Given the description of an element on the screen output the (x, y) to click on. 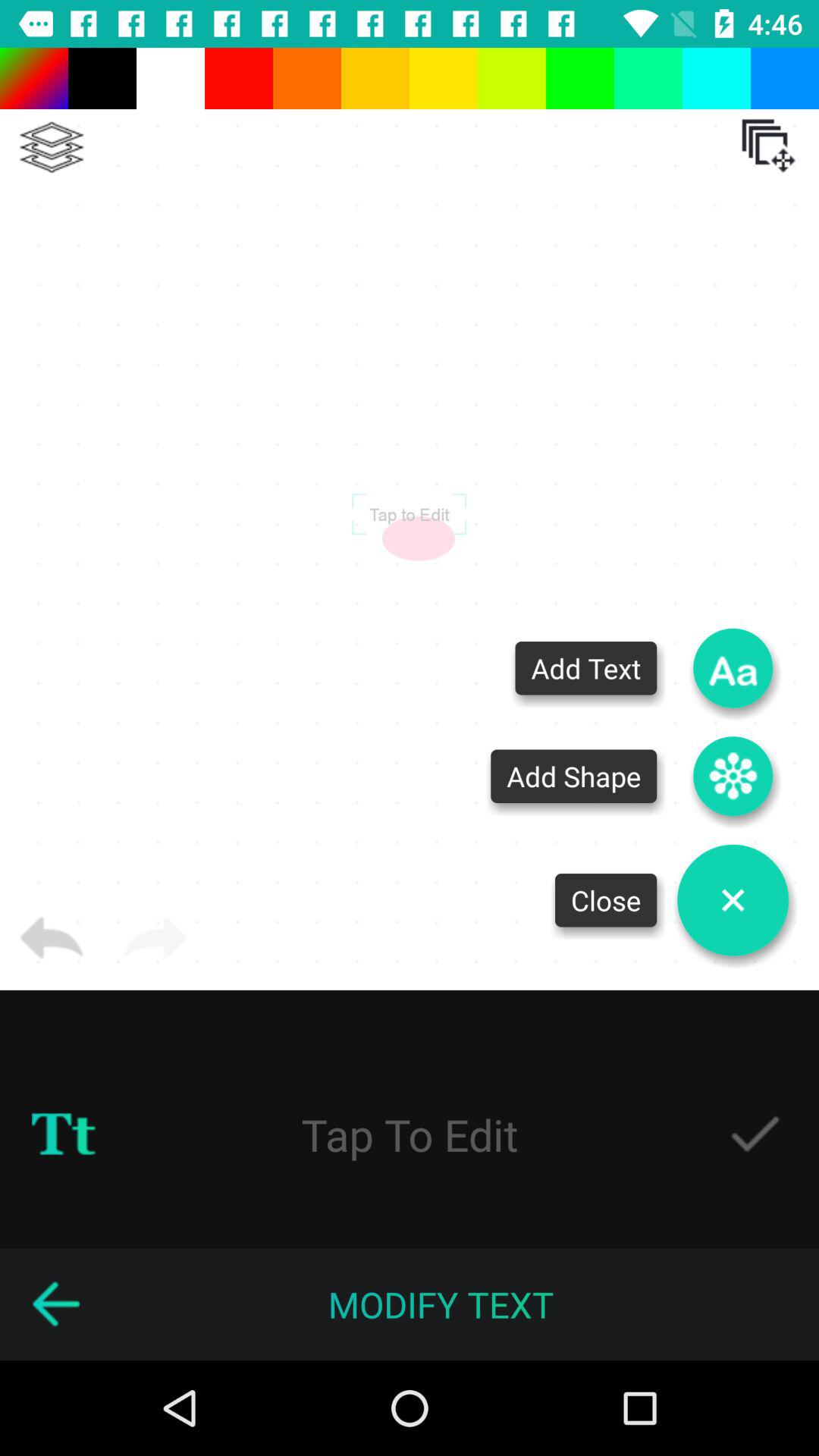
stack them (51, 147)
